Given the description of an element on the screen output the (x, y) to click on. 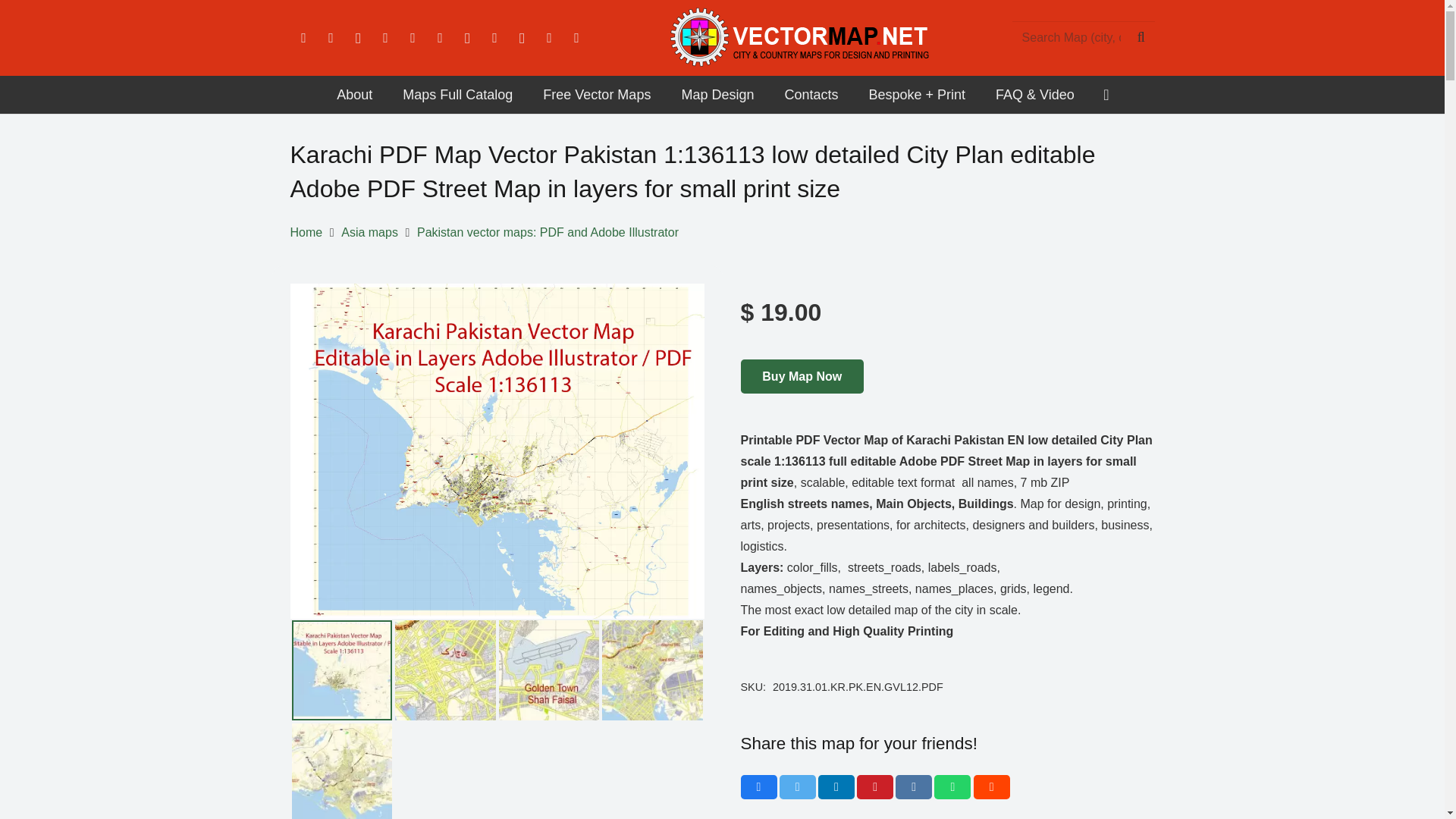
Reddit (466, 37)
Pinterest (494, 37)
Amazon (439, 37)
Twitter (330, 37)
Maps Full Catalog (457, 94)
EBAY (575, 37)
Facebook (303, 37)
ETSY SHOP (548, 37)
About (354, 94)
LinkedIn (384, 37)
Instagram (357, 37)
YouTube (412, 37)
Telegram (521, 37)
Vector Map Developers (354, 94)
